Given the description of an element on the screen output the (x, y) to click on. 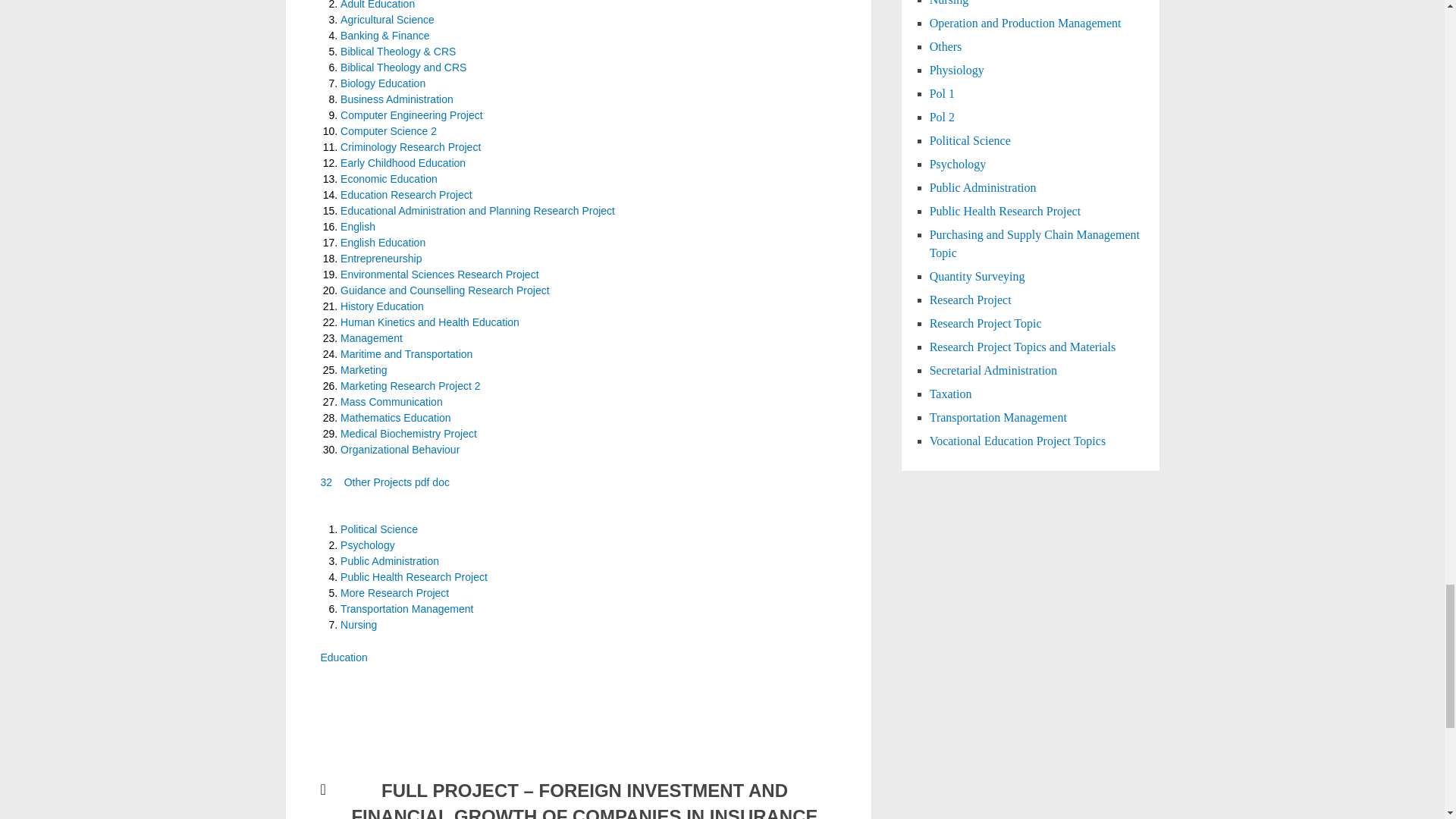
Management (371, 337)
History Education (381, 306)
Agricultural Science (386, 19)
Business Administration (396, 99)
Marketing (363, 369)
Adult Education (377, 4)
Economic Education (389, 178)
Biology Education (382, 82)
Mass Communication (391, 401)
English Education (382, 242)
Education Research Project (405, 194)
Mathematics Education (395, 417)
Environmental Sciences Research Project (439, 274)
Biblical Theology and CRS (402, 67)
Marketing Research Project 2 (410, 386)
